Given the description of an element on the screen output the (x, y) to click on. 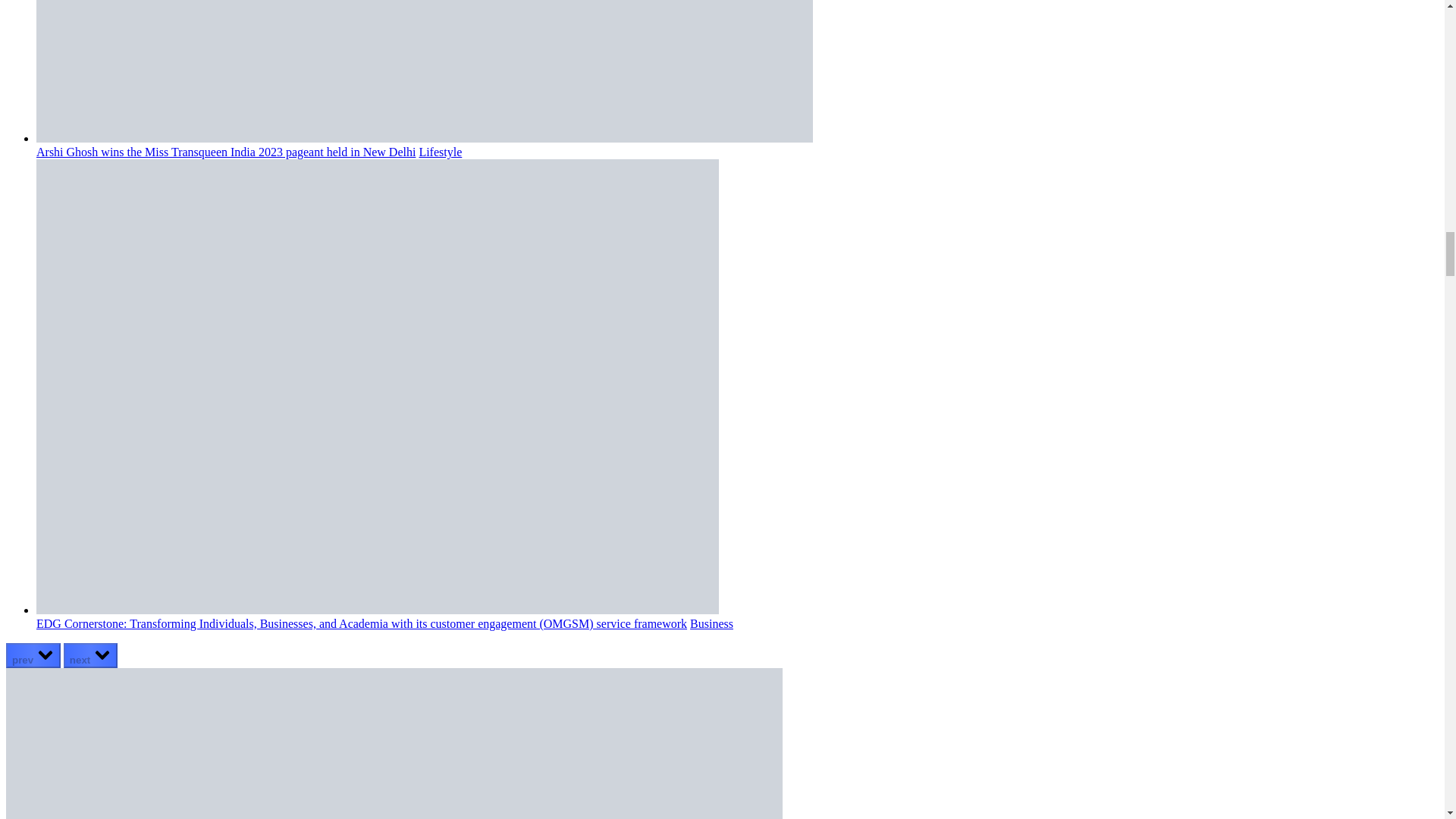
Lifestyle (440, 151)
